Given the description of an element on the screen output the (x, y) to click on. 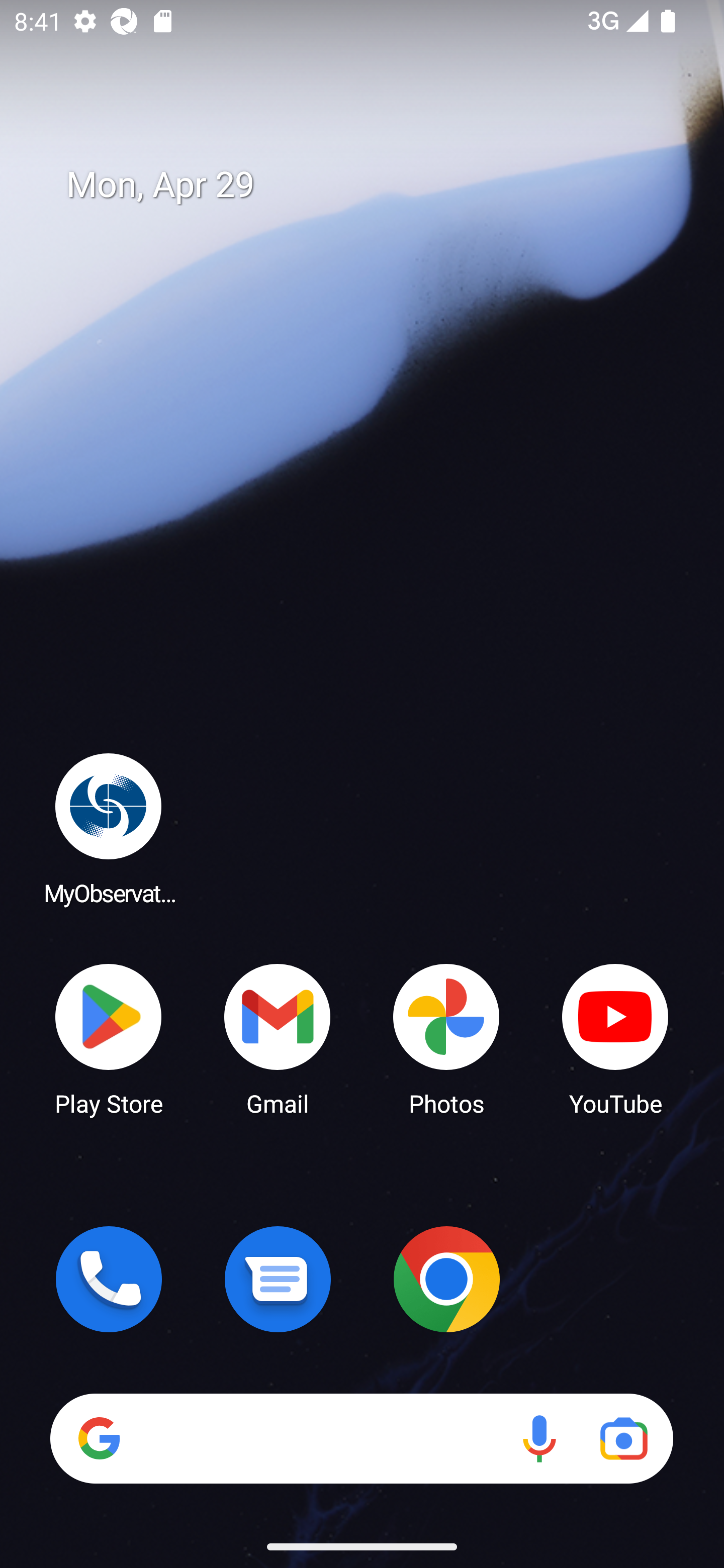
Mon, Apr 29 (375, 184)
MyObservatory (108, 828)
Play Store (108, 1038)
Gmail (277, 1038)
Photos (445, 1038)
YouTube (615, 1038)
Phone (108, 1279)
Messages (277, 1279)
Chrome (446, 1279)
Voice search (539, 1438)
Google Lens (623, 1438)
